Given the description of an element on the screen output the (x, y) to click on. 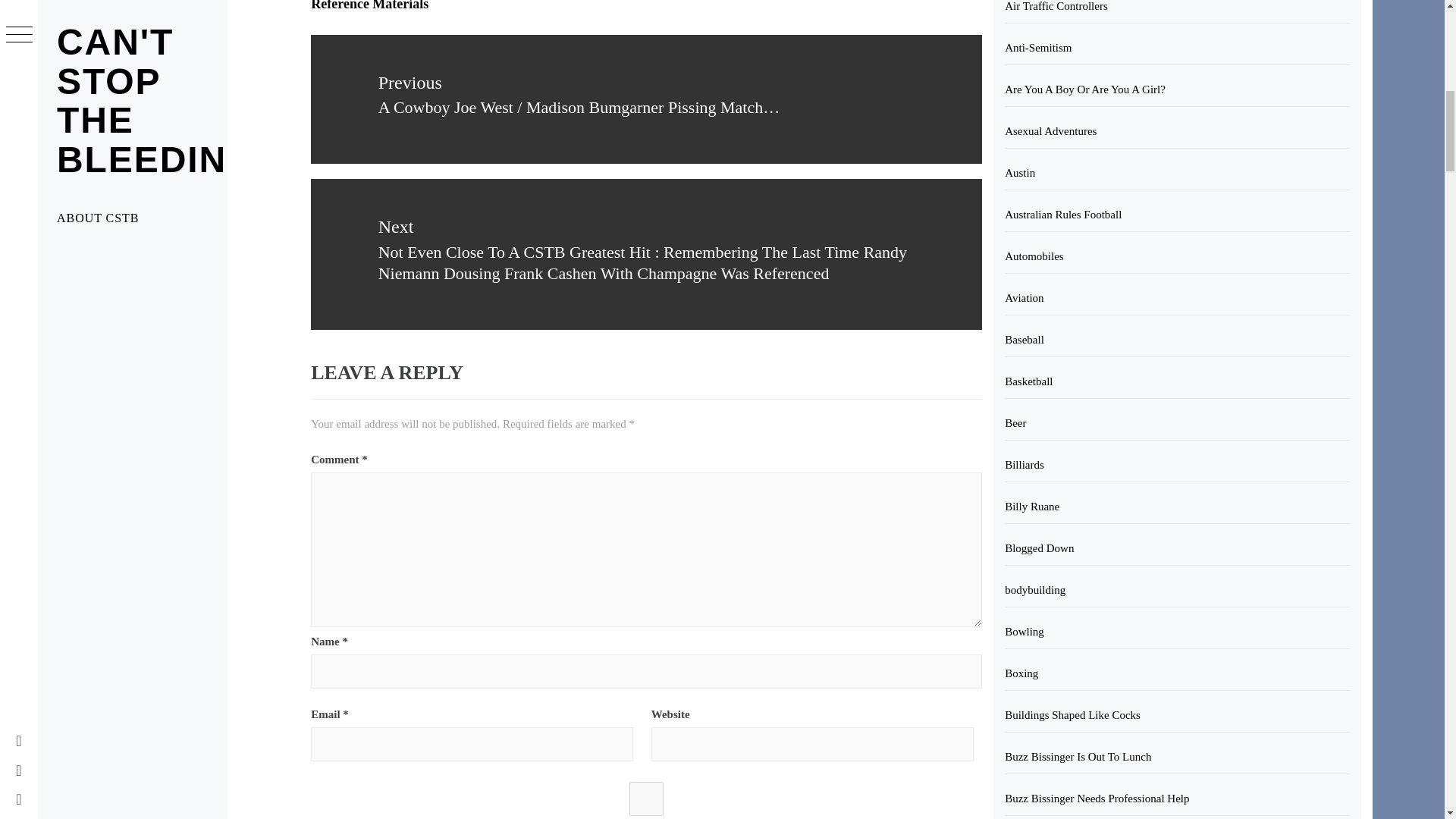
Air Traffic Controllers (1176, 11)
yes (646, 798)
Anti-Semitism (1176, 48)
Are You A Boy Or Are You A Girl? (1176, 89)
